Given the description of an element on the screen output the (x, y) to click on. 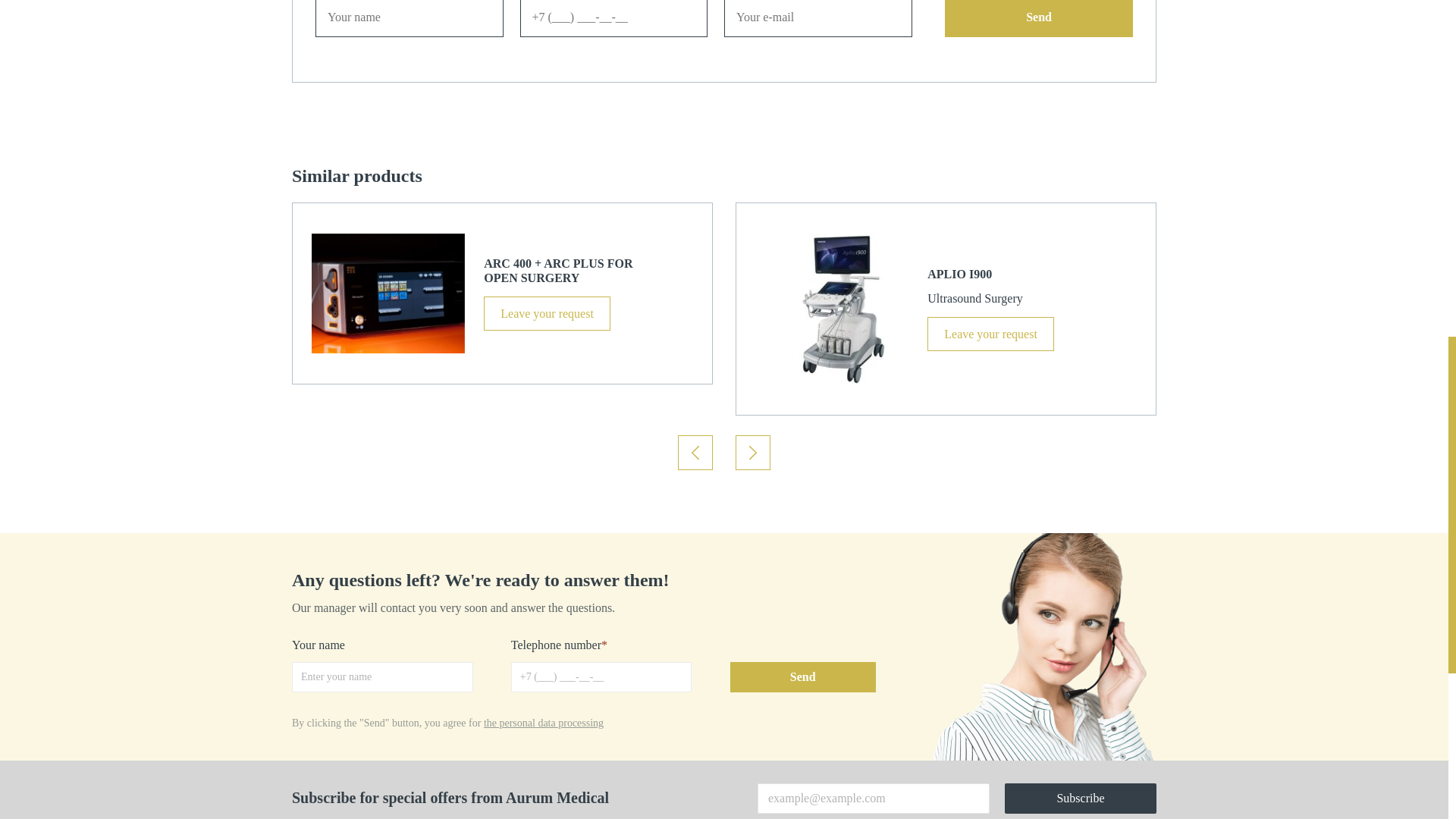
Subscribe (1080, 798)
Send (1038, 18)
Send (802, 676)
